Given the description of an element on the screen output the (x, y) to click on. 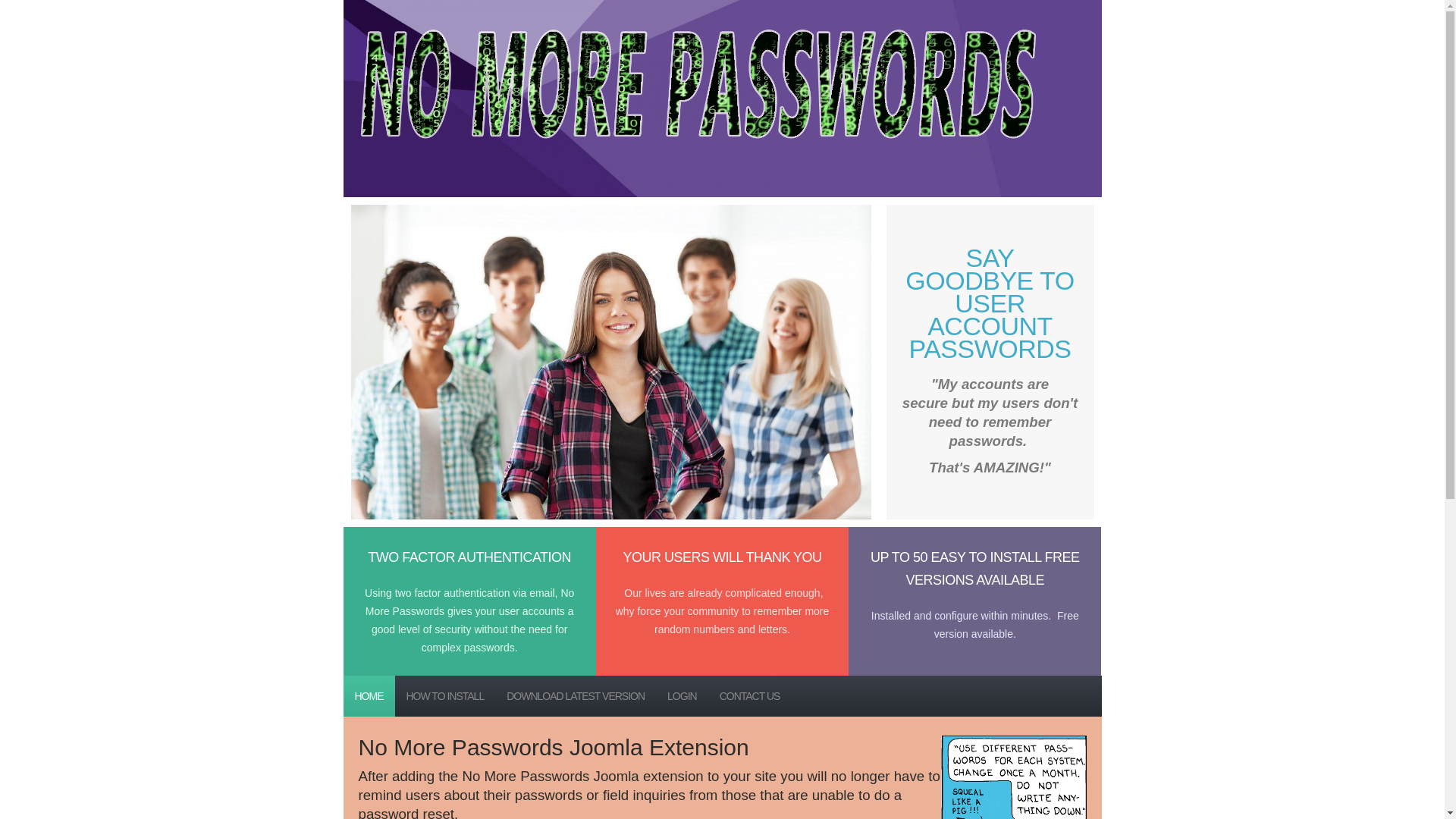
DOWNLOAD LATEST VERSION Element type: text (575, 695)
HOW TO INSTALL Element type: text (444, 695)
HOME Element type: text (368, 695)
LOGIN Element type: text (681, 695)
CONTACT US Element type: text (749, 695)
